Given the description of an element on the screen output the (x, y) to click on. 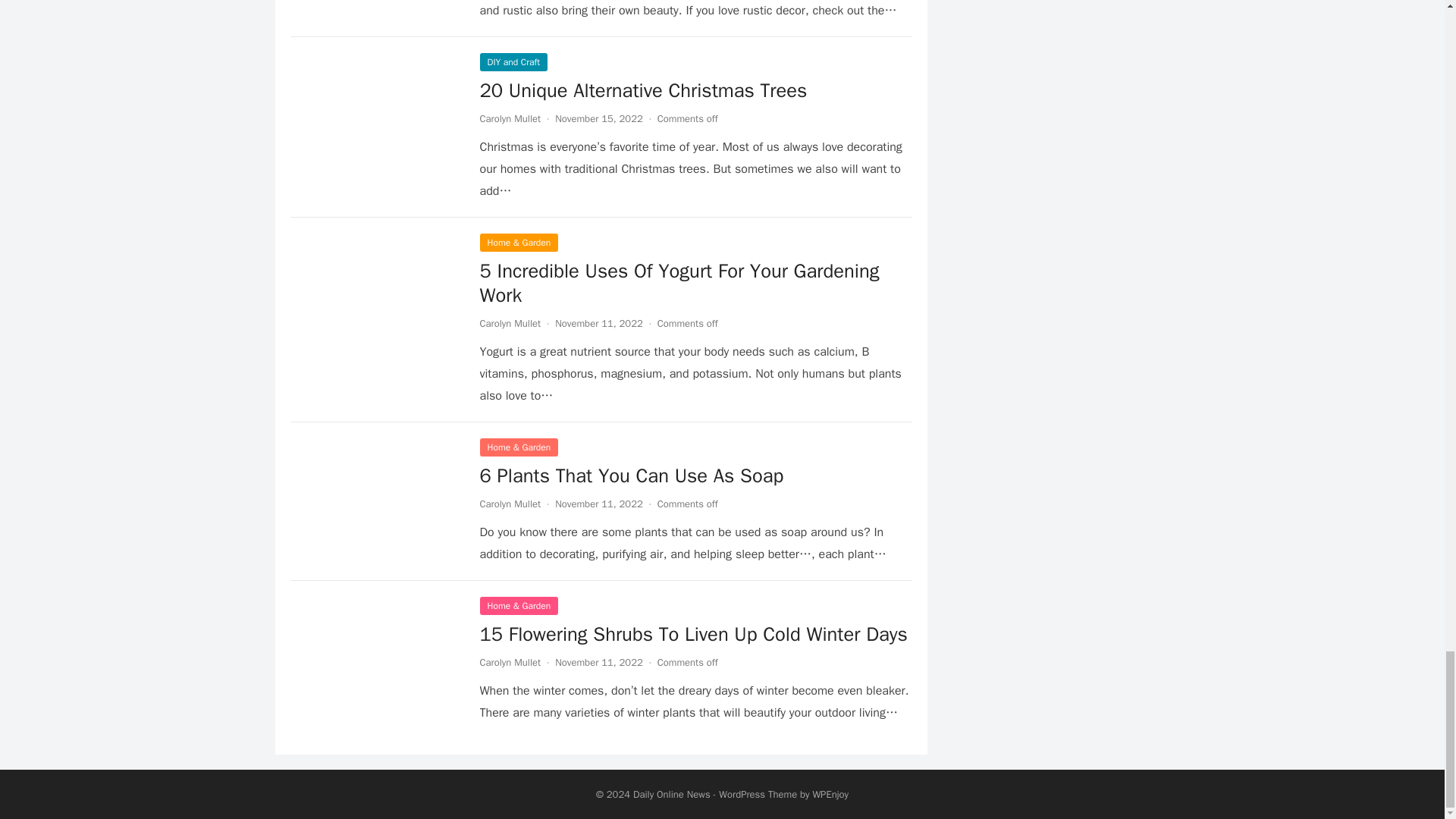
Posts by Carolyn Mullet (509, 503)
Posts by Carolyn Mullet (509, 323)
Carolyn Mullet (509, 118)
Posts by Carolyn Mullet (509, 118)
DIY and Craft (513, 62)
6 Plants That You Can Use As Soap (631, 475)
Carolyn Mullet (509, 323)
Posts by Carolyn Mullet (509, 662)
20 Unique Alternative Christmas Trees (642, 90)
Carolyn Mullet (509, 503)
